Given the description of an element on the screen output the (x, y) to click on. 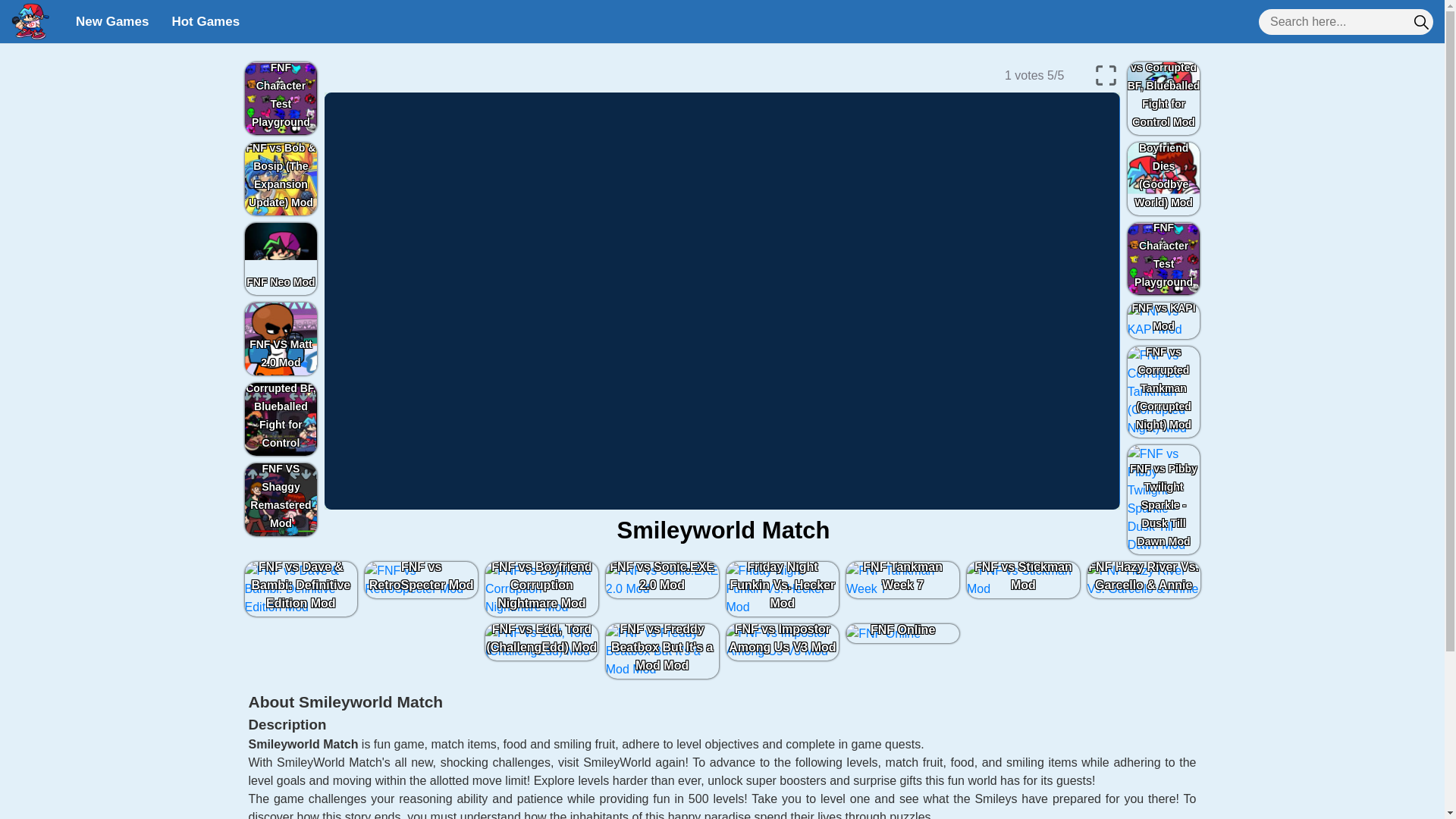
FNF Character Test Playground (1162, 258)
FNF VS Shaggy Remastered Mod (280, 499)
Hot Games (205, 21)
FNF Tankman Week 7 (902, 579)
FNF VS Shaggy Remastered Mod (281, 499)
FNF Neo Mod (281, 258)
FNF vs KAPI Mod (1162, 320)
FNF vs RetroSpecter Mod (421, 579)
